Given the description of an element on the screen output the (x, y) to click on. 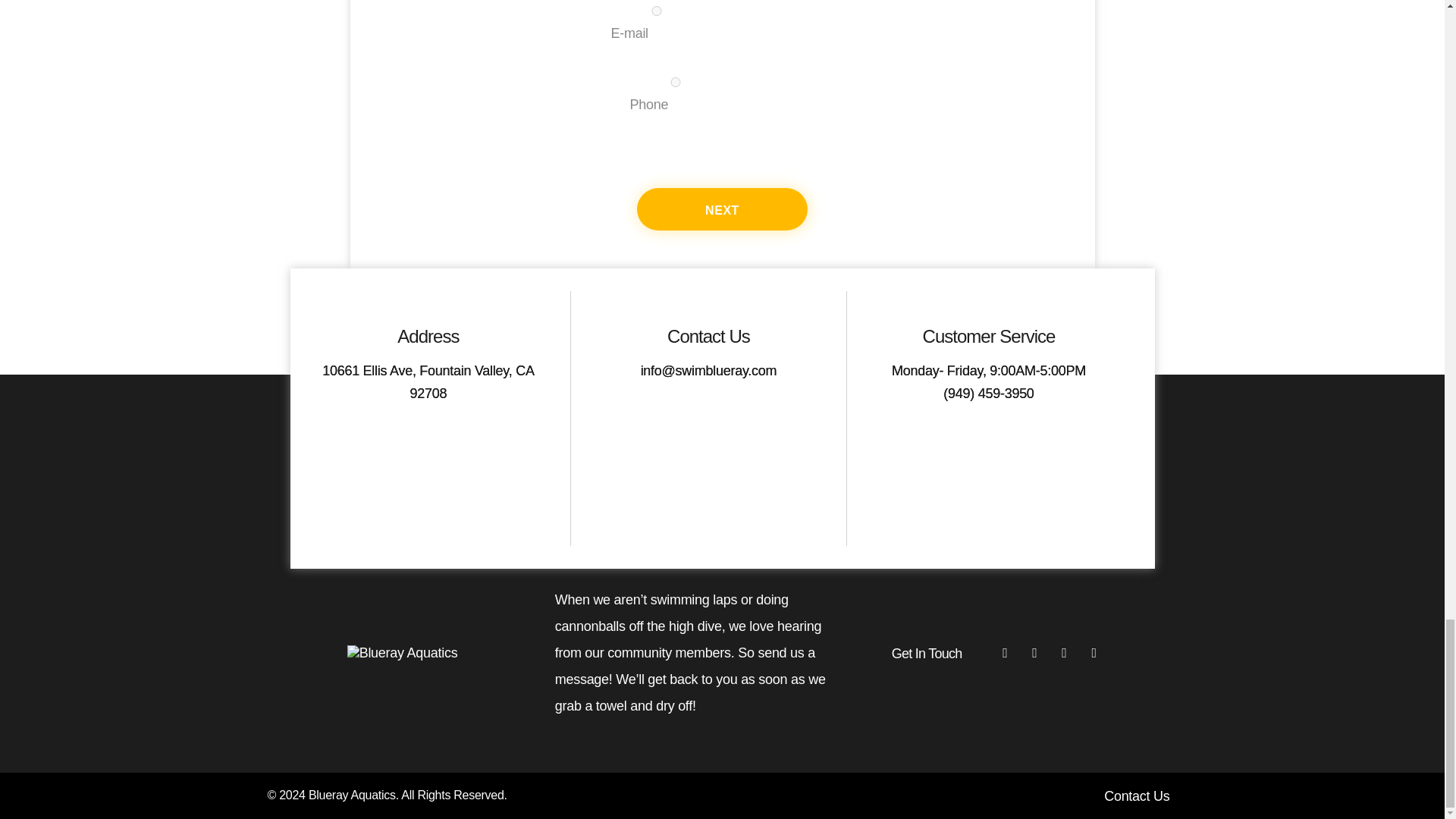
Contact Us (1136, 795)
Next (722, 209)
E-mail (655, 10)
Phone (674, 81)
Blueray Aquatics (352, 794)
